Given the description of an element on the screen output the (x, y) to click on. 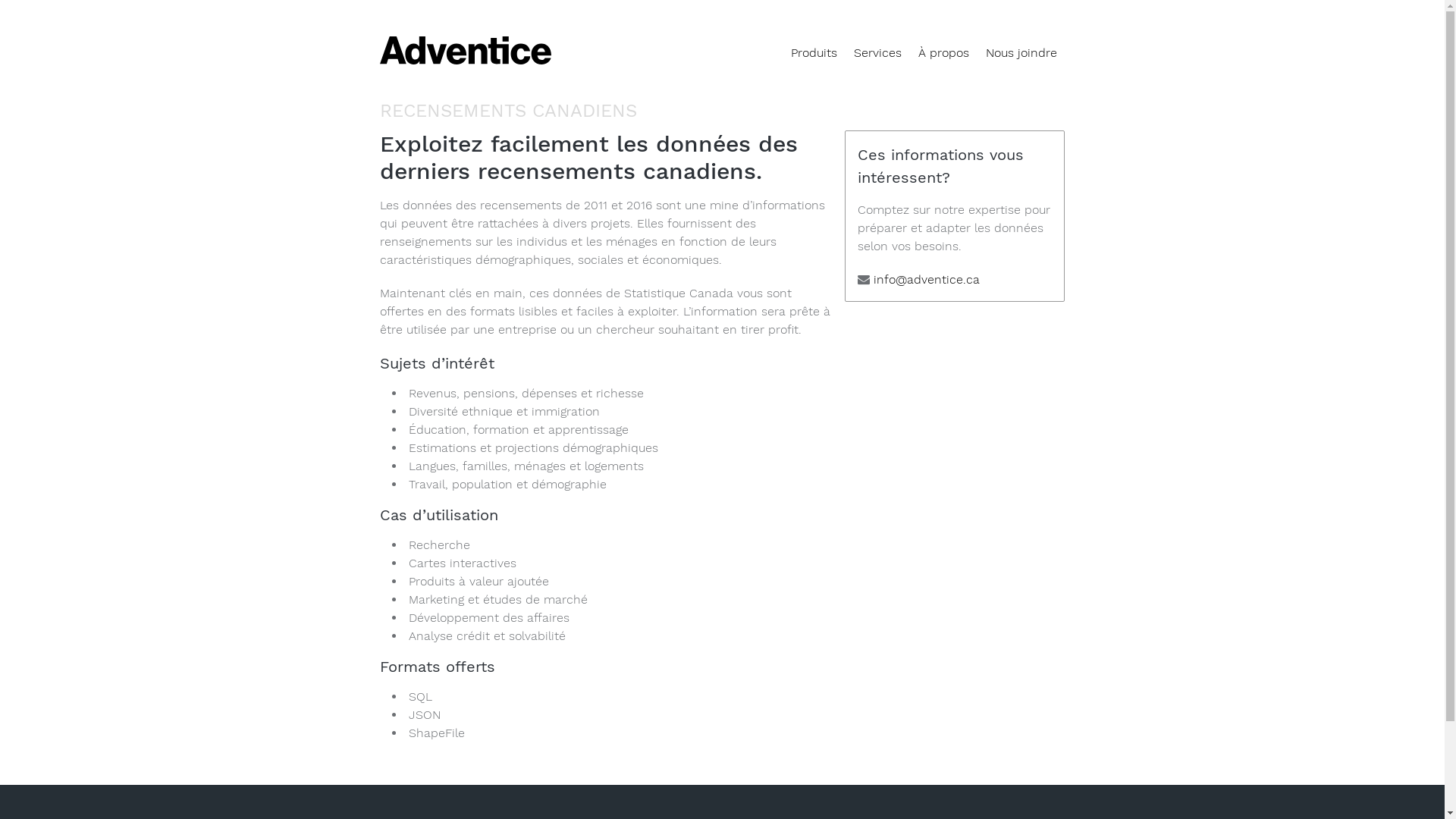
Nous joindre Element type: text (1020, 52)
Produits Element type: text (813, 52)
Services Element type: text (876, 52)
info@adventice.ca Element type: text (926, 279)
